Given the description of an element on the screen output the (x, y) to click on. 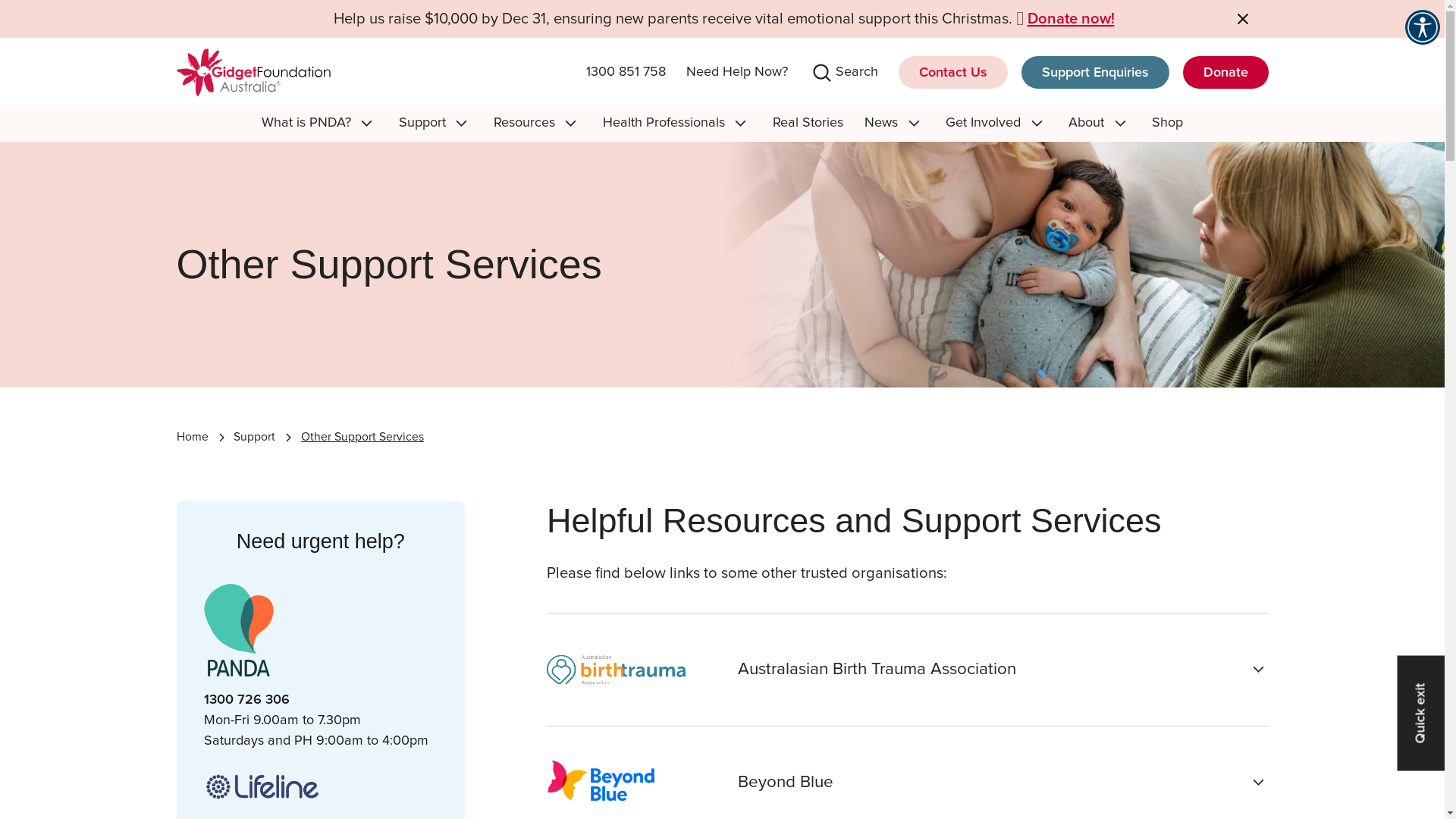
Support Element type: text (254, 437)
Search Element type: text (41, 17)
1300 851 758 Element type: text (625, 72)
Real Stories Element type: text (807, 122)
Donate Element type: text (1225, 72)
Donate now! Element type: text (1069, 18)
1300 726 306 Element type: text (245, 699)
Support Enquiries Element type: text (1094, 72)
Home Element type: text (191, 437)
Contact Us Element type: text (952, 72)
Other Support Services Element type: text (362, 437)
Shop Element type: text (1167, 122)
Search Element type: text (856, 72)
